Given the description of an element on the screen output the (x, y) to click on. 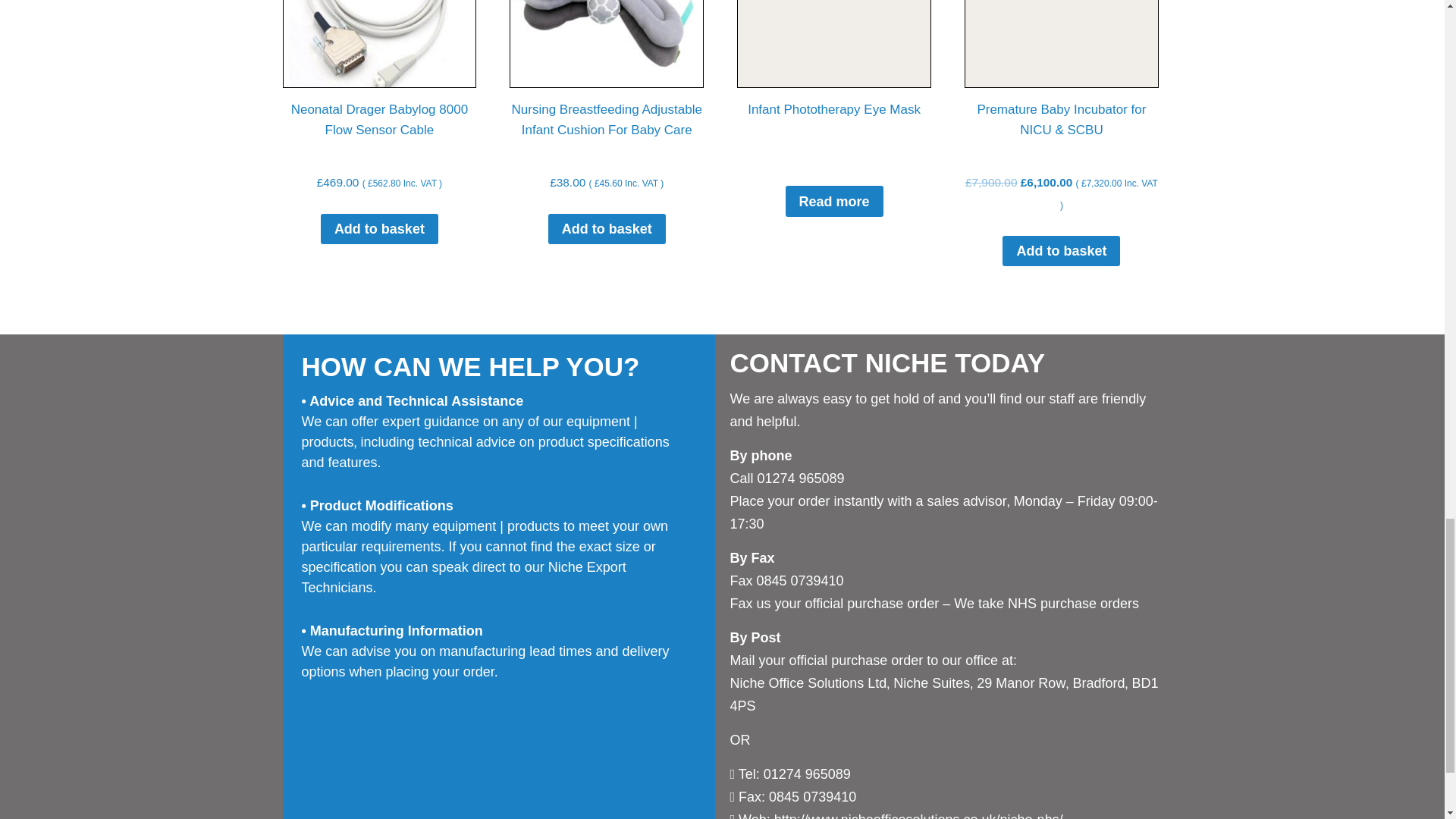
Add to basket (606, 228)
Add to basket (379, 228)
Infant Phototherapy Eye Mask (833, 104)
Read more (834, 200)
